Given the description of an element on the screen output the (x, y) to click on. 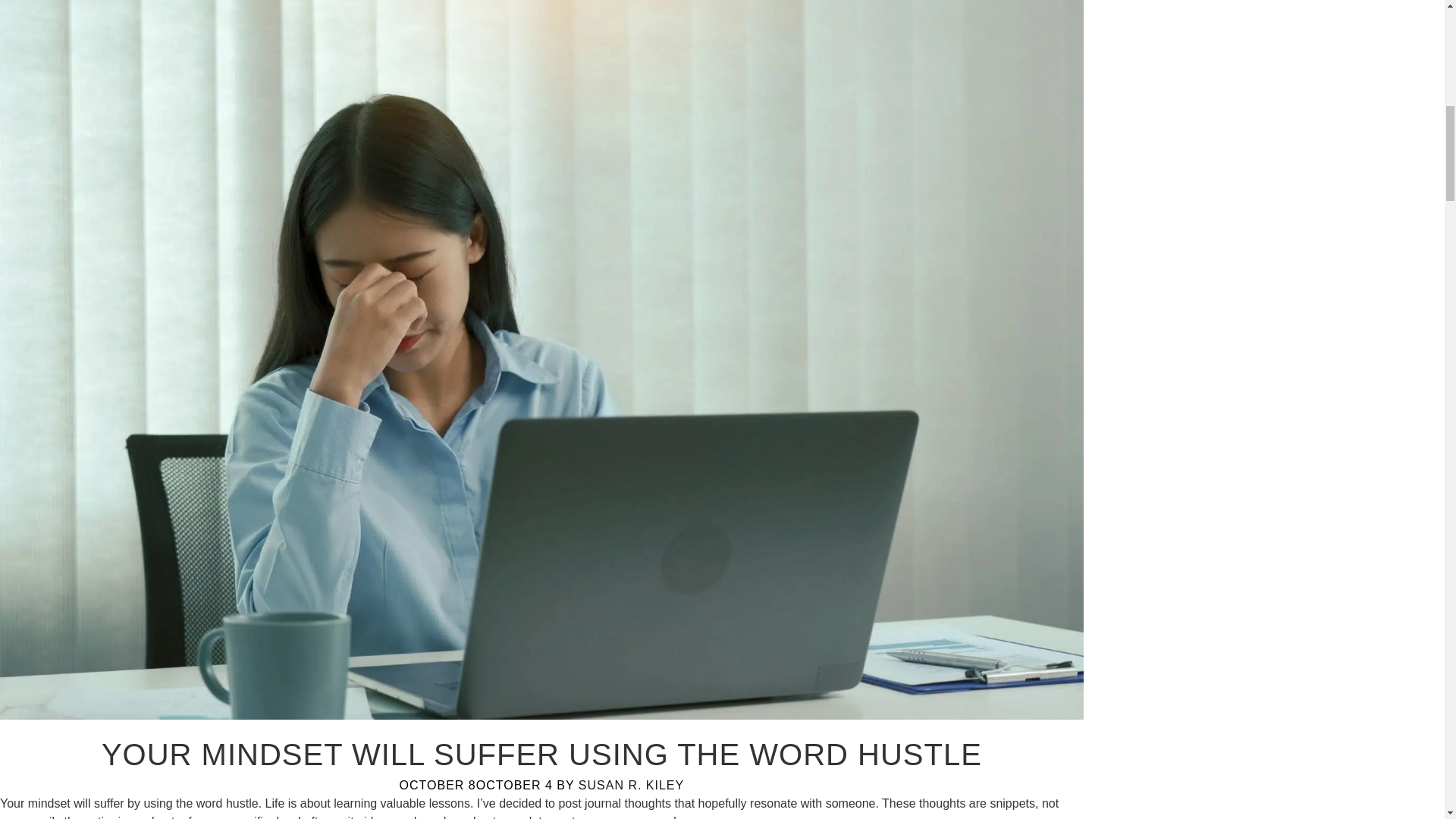
SUSAN R. KILEY (631, 784)
View all posts by Susan R. Kiley (631, 784)
Scroll back to top (1406, 720)
